Given the description of an element on the screen output the (x, y) to click on. 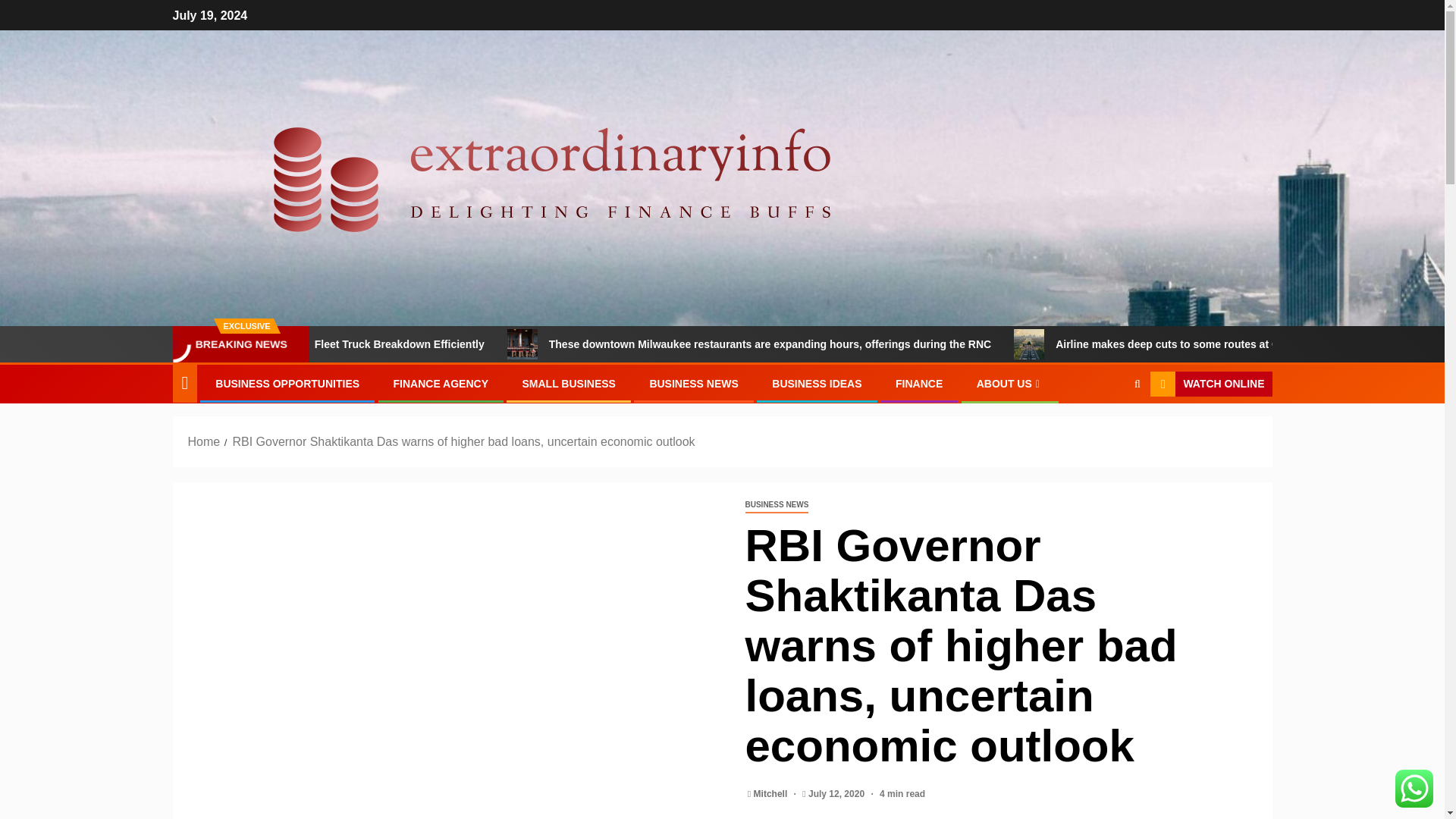
FINANCE (918, 383)
Home (204, 440)
Mitchell (772, 793)
SMALL BUSINESS (567, 383)
BUSINESS OPPORTUNITIES (287, 383)
WATCH ONLINE (1210, 384)
Search (1107, 430)
BUSINESS NEWS (776, 505)
5 Tips to Handle a Fleet Truck Breakdown Efficiently (464, 344)
ABOUT US (1009, 383)
BUSINESS IDEAS (816, 383)
FINANCE AGENCY (441, 383)
